Given the description of an element on the screen output the (x, y) to click on. 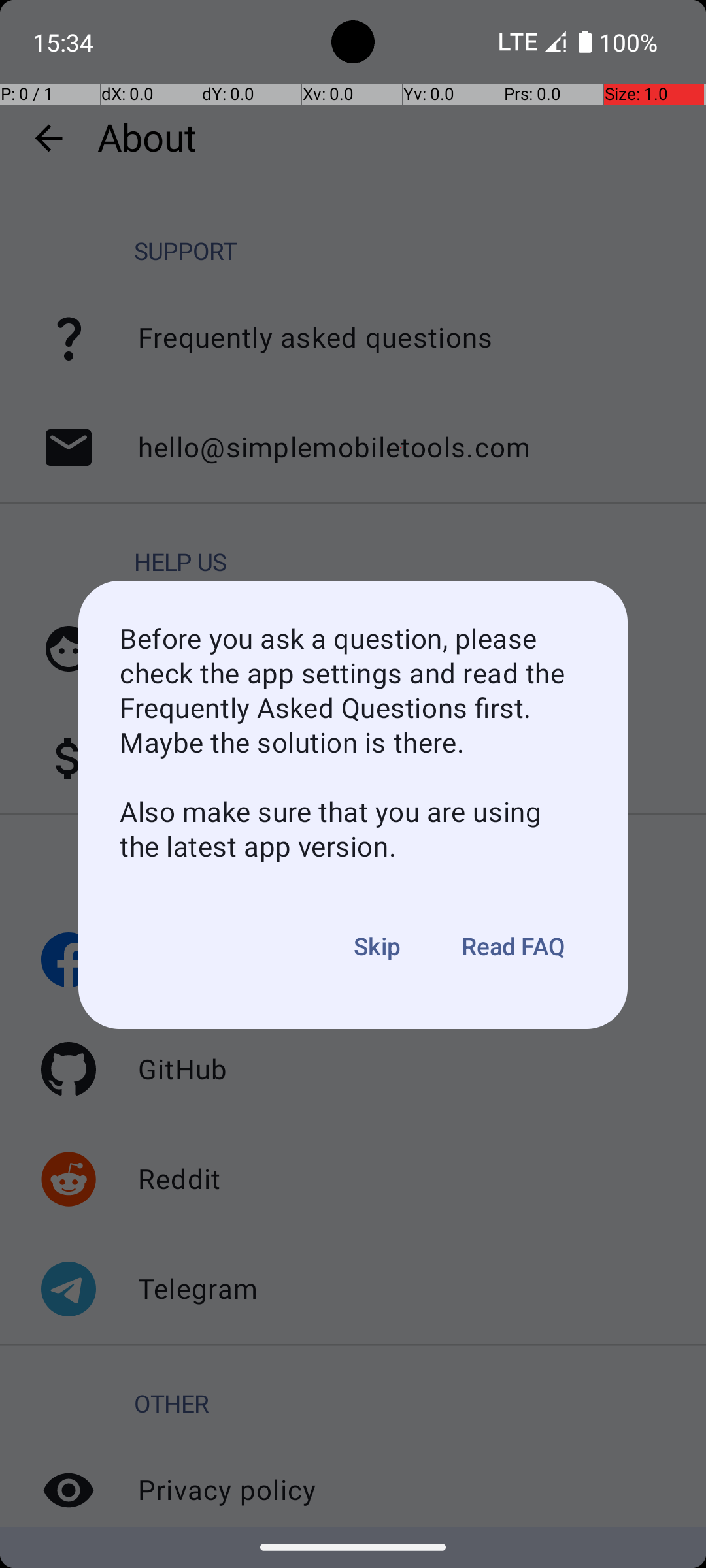
Before you ask a question, please check the app settings and read the Frequently Asked Questions first. Maybe the solution is there.

Also make sure that you are using the latest app version. Element type: android.widget.TextView (352, 742)
Skip Element type: android.widget.TextView (377, 946)
Read FAQ Element type: android.widget.TextView (513, 946)
